Given the description of an element on the screen output the (x, y) to click on. 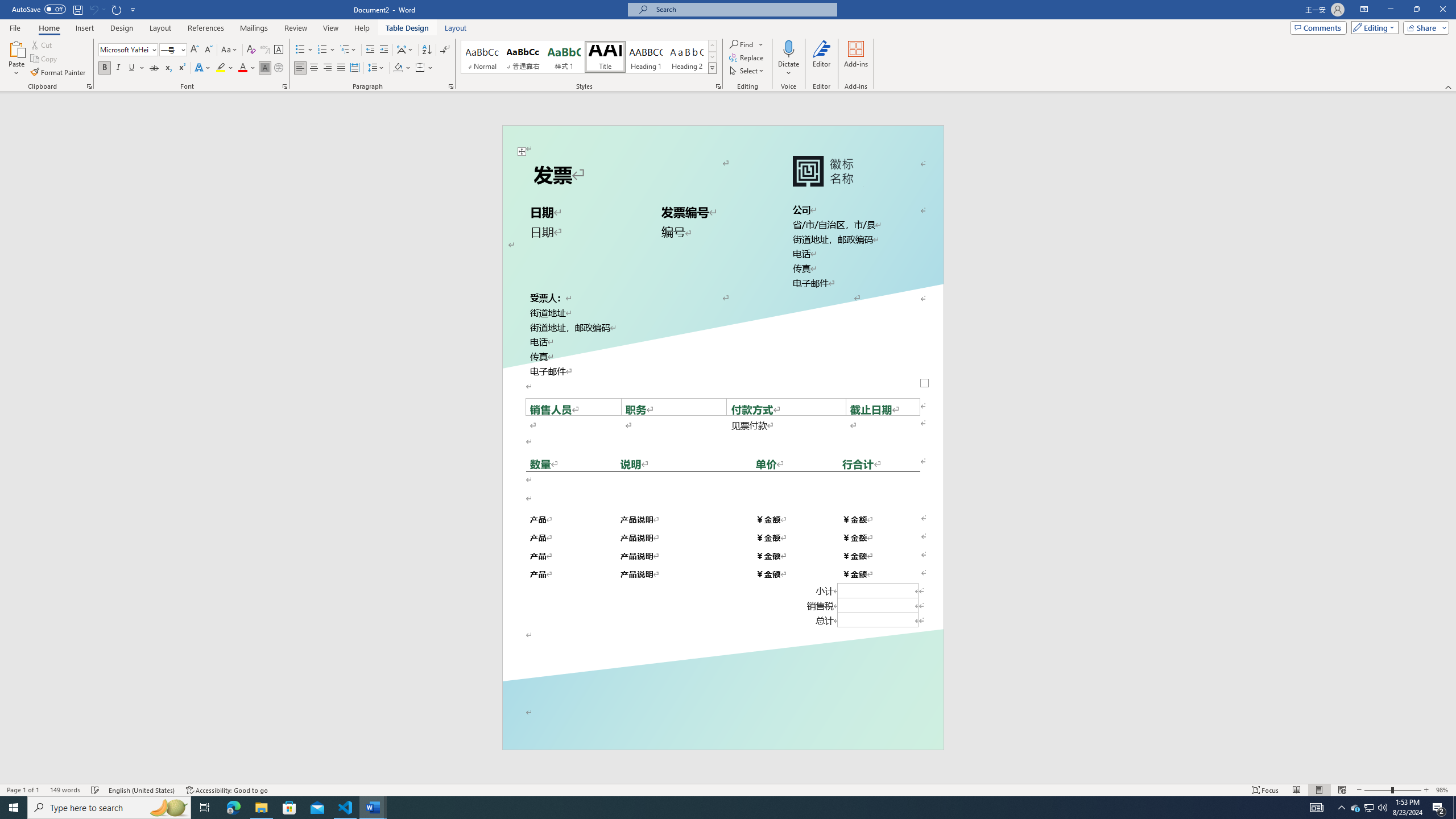
Font Color RGB(255, 0, 0) (241, 67)
